Given the description of an element on the screen output the (x, y) to click on. 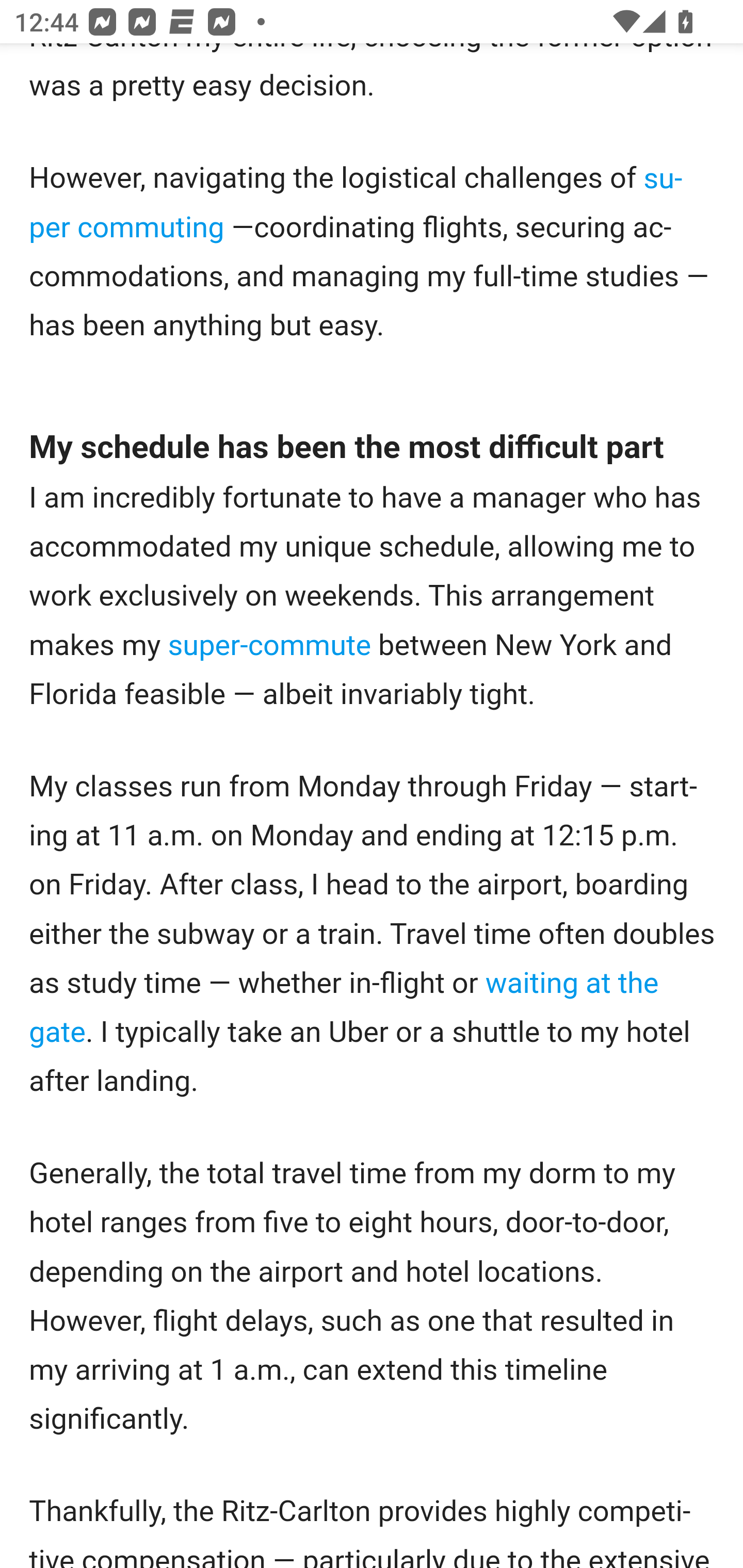
super commuting (356, 203)
super-commute (269, 645)
waiting at the gate (343, 1007)
